Given the description of an element on the screen output the (x, y) to click on. 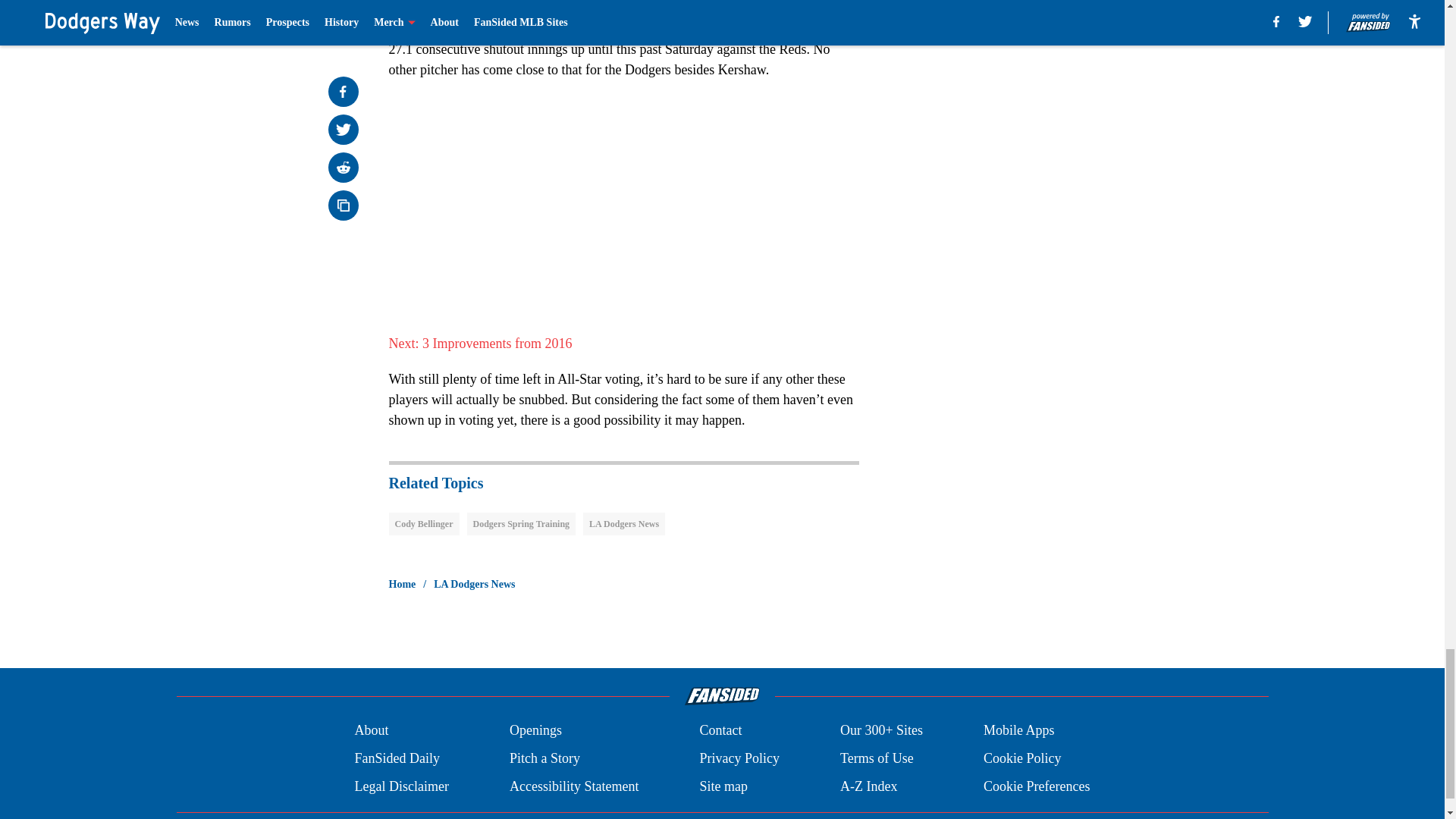
Home (401, 584)
Next: 3 Improvements from 2016 (480, 343)
Contact (719, 730)
Cody Bellinger (423, 523)
LA Dodgers News (474, 584)
Dodgers Spring Training (521, 523)
About (370, 730)
Openings (535, 730)
LA Dodgers News (624, 523)
